Given the description of an element on the screen output the (x, y) to click on. 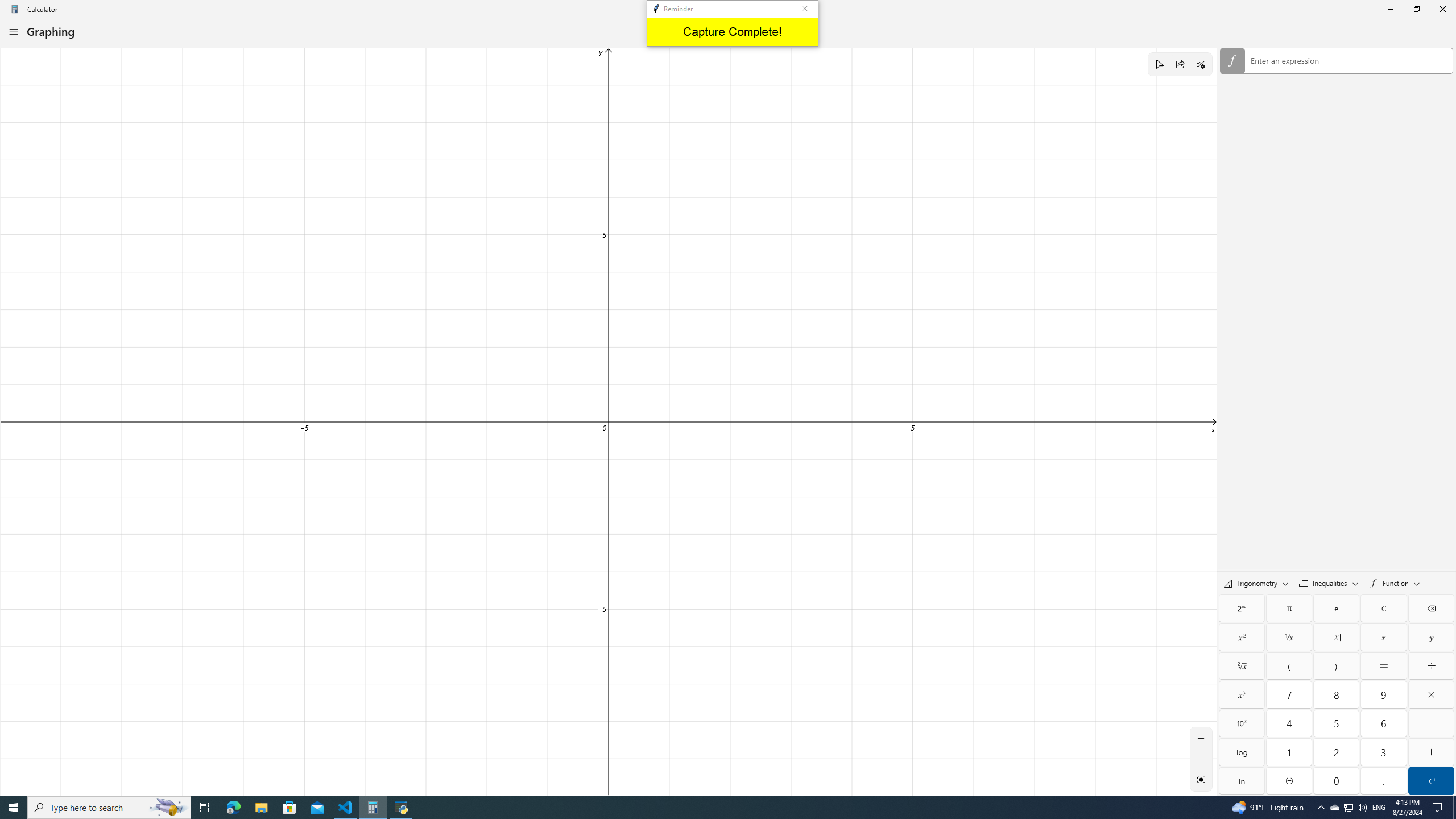
Euler's number (1336, 608)
Share (1179, 63)
Functions (1394, 582)
'X' to the exponent (1241, 694)
Square root (1241, 665)
Running applications (706, 807)
Four (1288, 723)
Inverse function (1241, 608)
Function input (1336, 61)
Square (1241, 637)
